Given the description of an element on the screen output the (x, y) to click on. 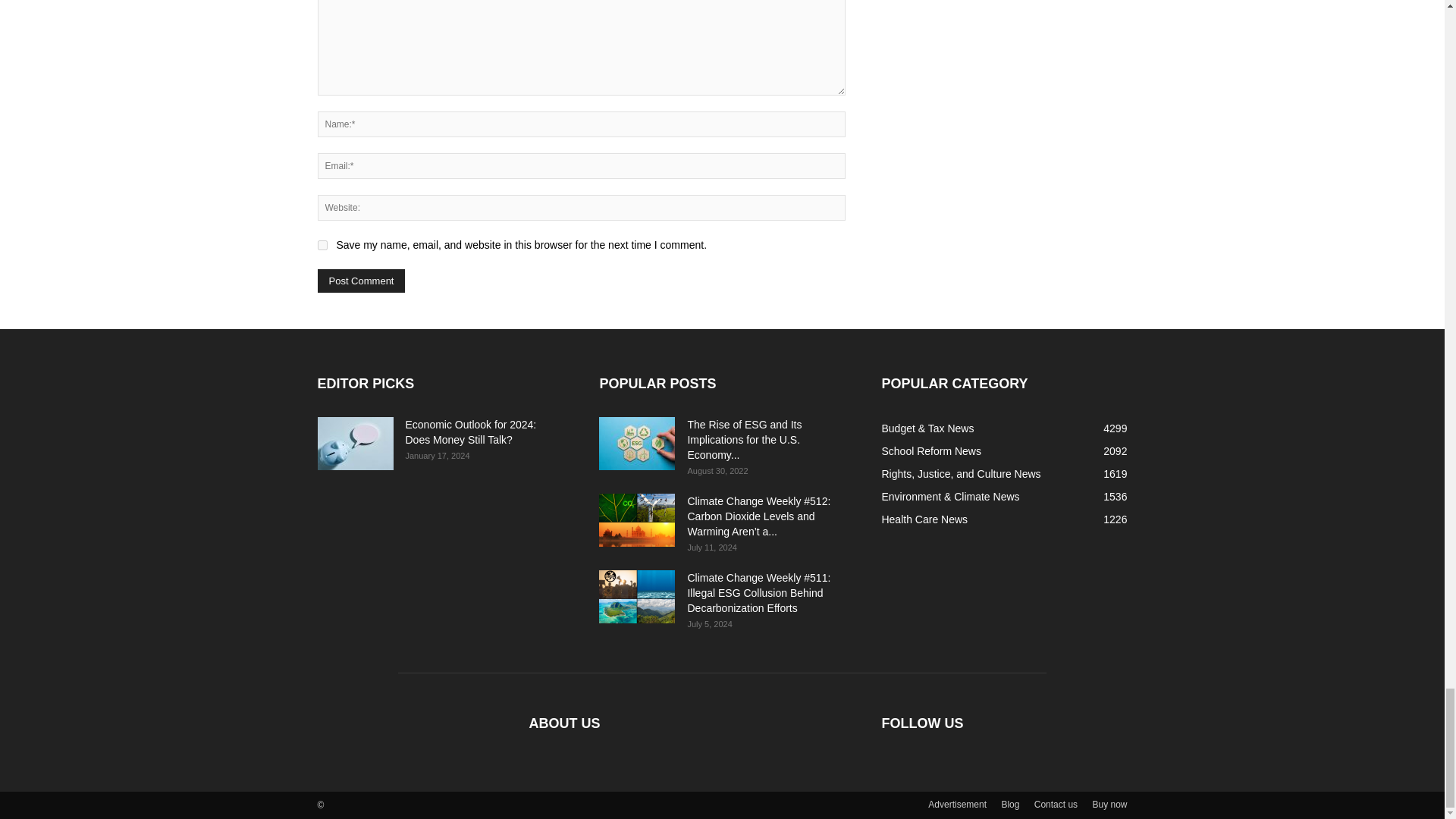
yes (321, 245)
Post Comment (360, 280)
